Given the description of an element on the screen output the (x, y) to click on. 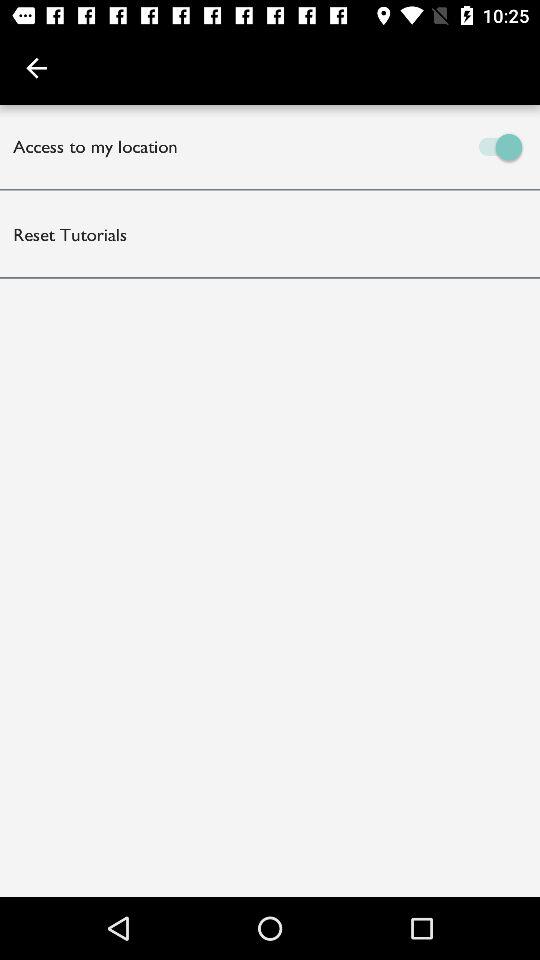
launch item at the top right corner (405, 146)
